Given the description of an element on the screen output the (x, y) to click on. 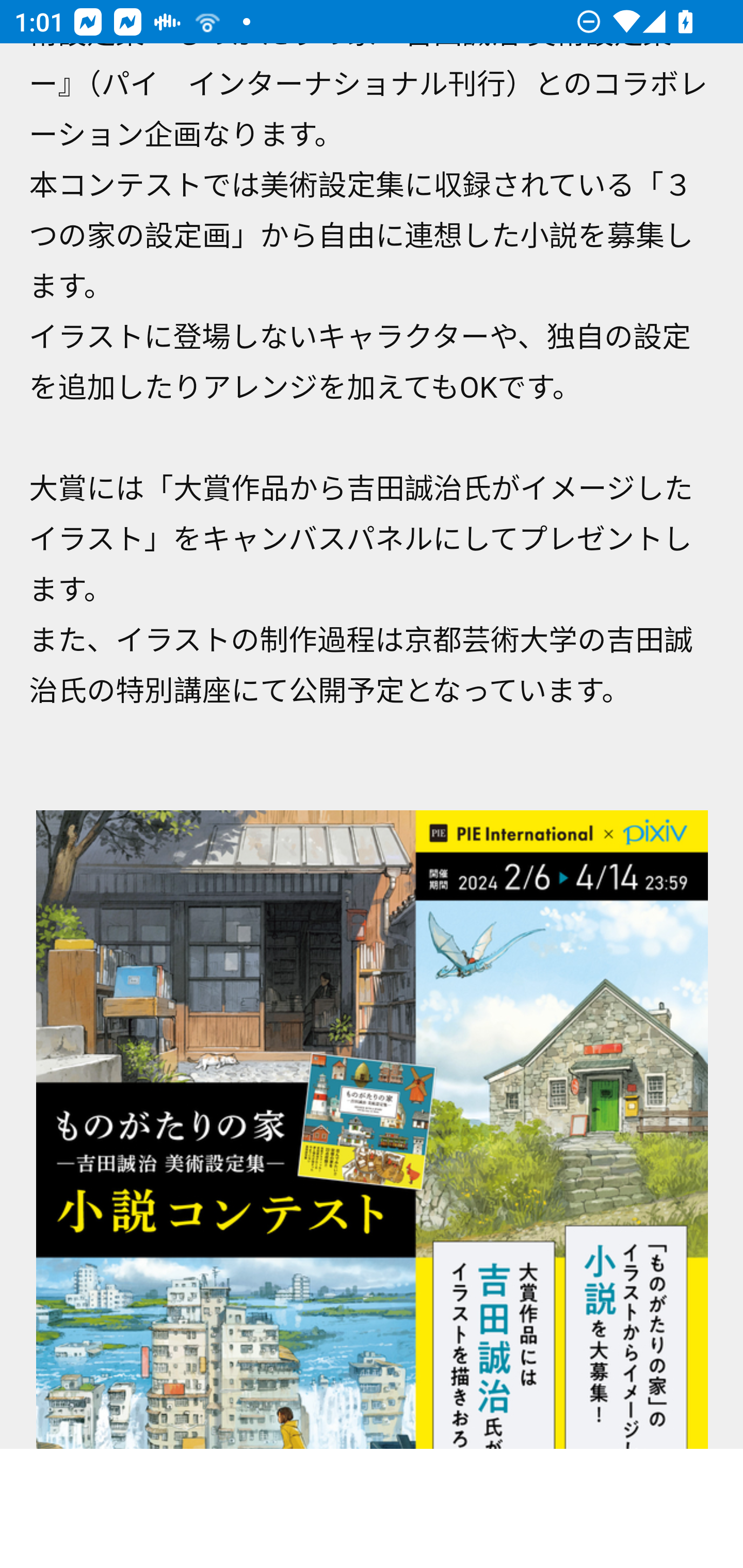
「『ものがたりの家ー吉田誠治 美術設定集ー』小説コンテスト」開催 (371, 1129)
